Given the description of an element on the screen output the (x, y) to click on. 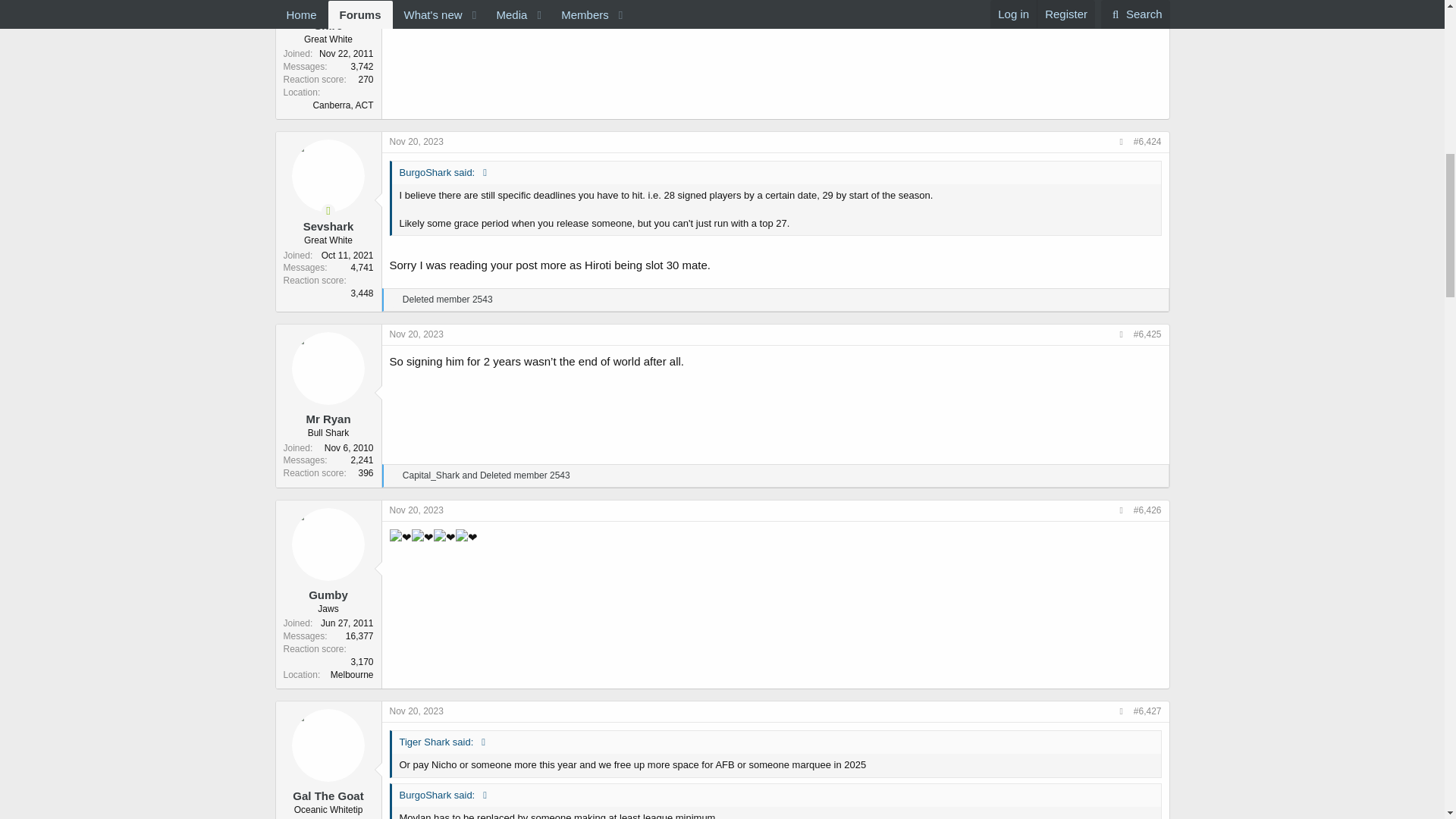
Like (394, 300)
Nov 20, 2023 at 7:36 PM (417, 334)
Nov 20, 2023 at 7:37 PM (417, 510)
Online now (328, 210)
Haha (394, 476)
Nov 20, 2023 at 7:33 PM (417, 141)
